Given the description of an element on the screen output the (x, y) to click on. 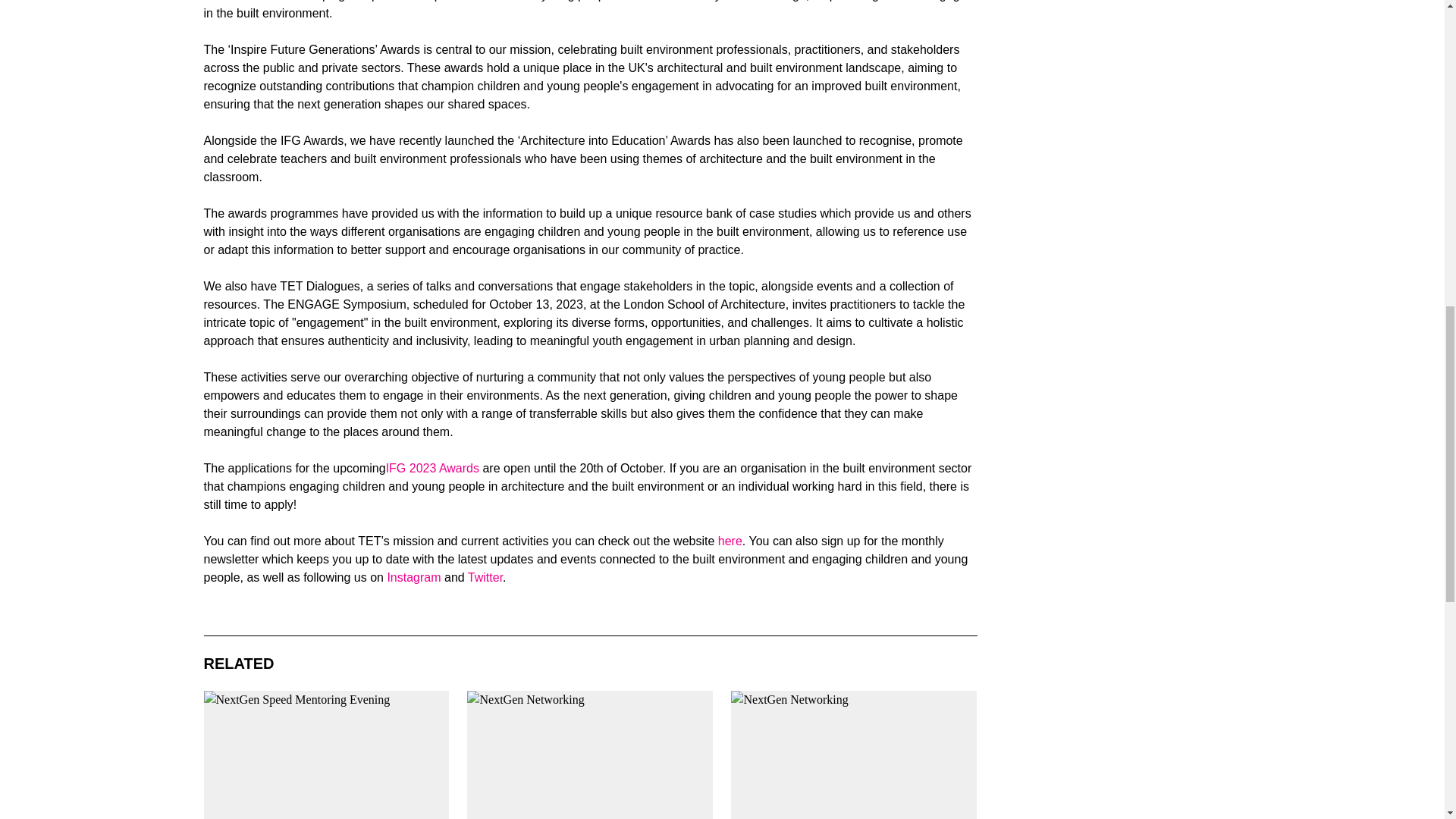
Twitter (484, 576)
here (729, 540)
NextGen Networking (853, 755)
Instagram (414, 576)
IFG 2023 Awards (432, 468)
NextGen Networking (590, 755)
NextGen Speed Mentoring Evening (325, 755)
